Given the description of an element on the screen output the (x, y) to click on. 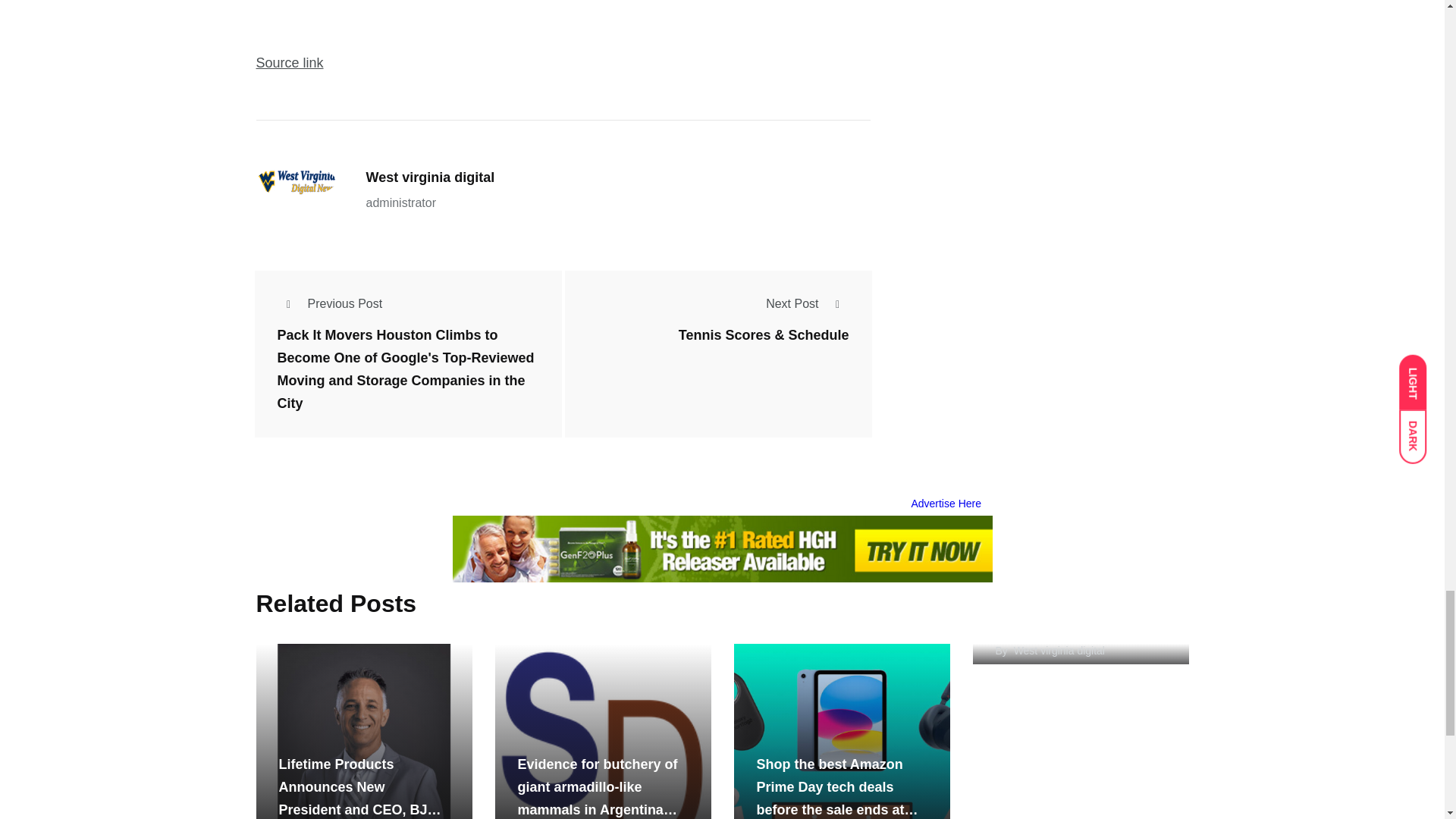
Posts by West virginia digital (430, 177)
Lifetime Products Announces New President and CEO, BJ Haacke (363, 731)
Posts by West virginia digital (1059, 650)
